Given the description of an element on the screen output the (x, y) to click on. 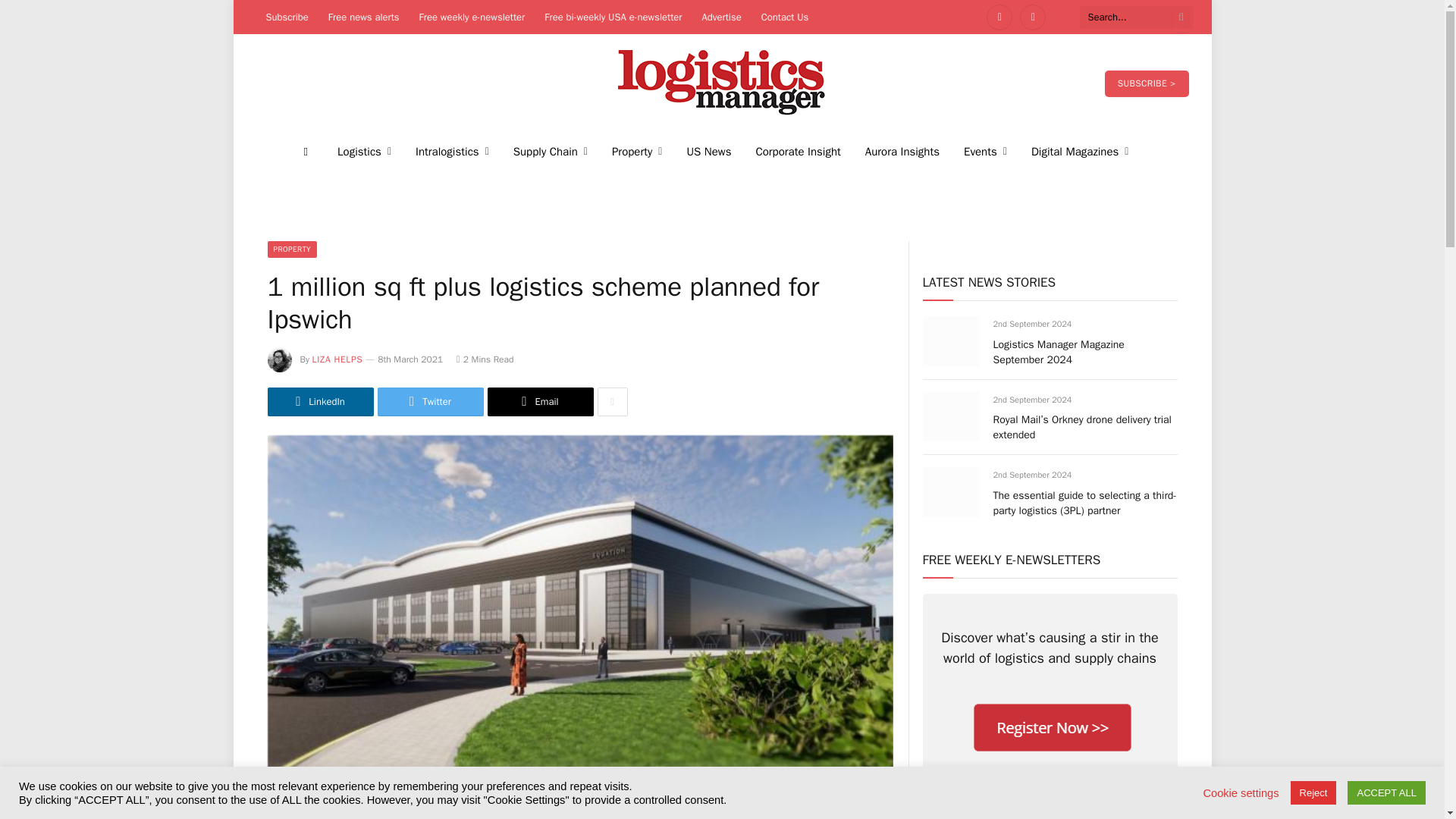
Share via Email (539, 401)
Posts by Liza Helps (337, 358)
Logistics Manager (722, 83)
Share on LinkedIn (319, 401)
Show More Social Sharing (611, 401)
